Given the description of an element on the screen output the (x, y) to click on. 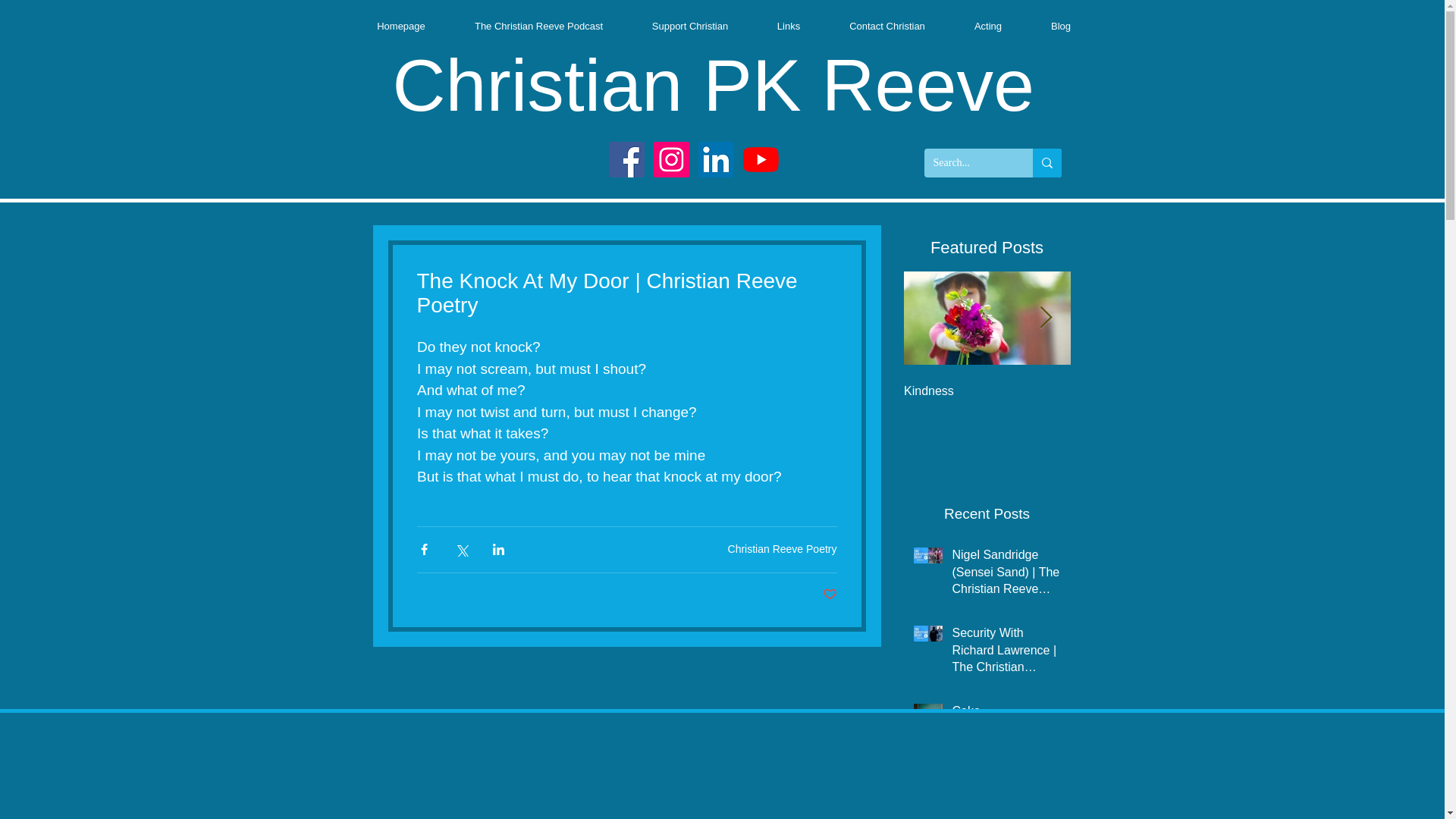
Links (788, 26)
Christian Reeve Poetry (782, 548)
Christian PK Reeve (713, 85)
Support Christian (689, 26)
Kindness (987, 391)
Post not marked as liked (828, 594)
Blog (1061, 26)
Acting (987, 26)
Contact Christian (887, 26)
The Christian Reeve Podcast (538, 26)
